Given the description of an element on the screen output the (x, y) to click on. 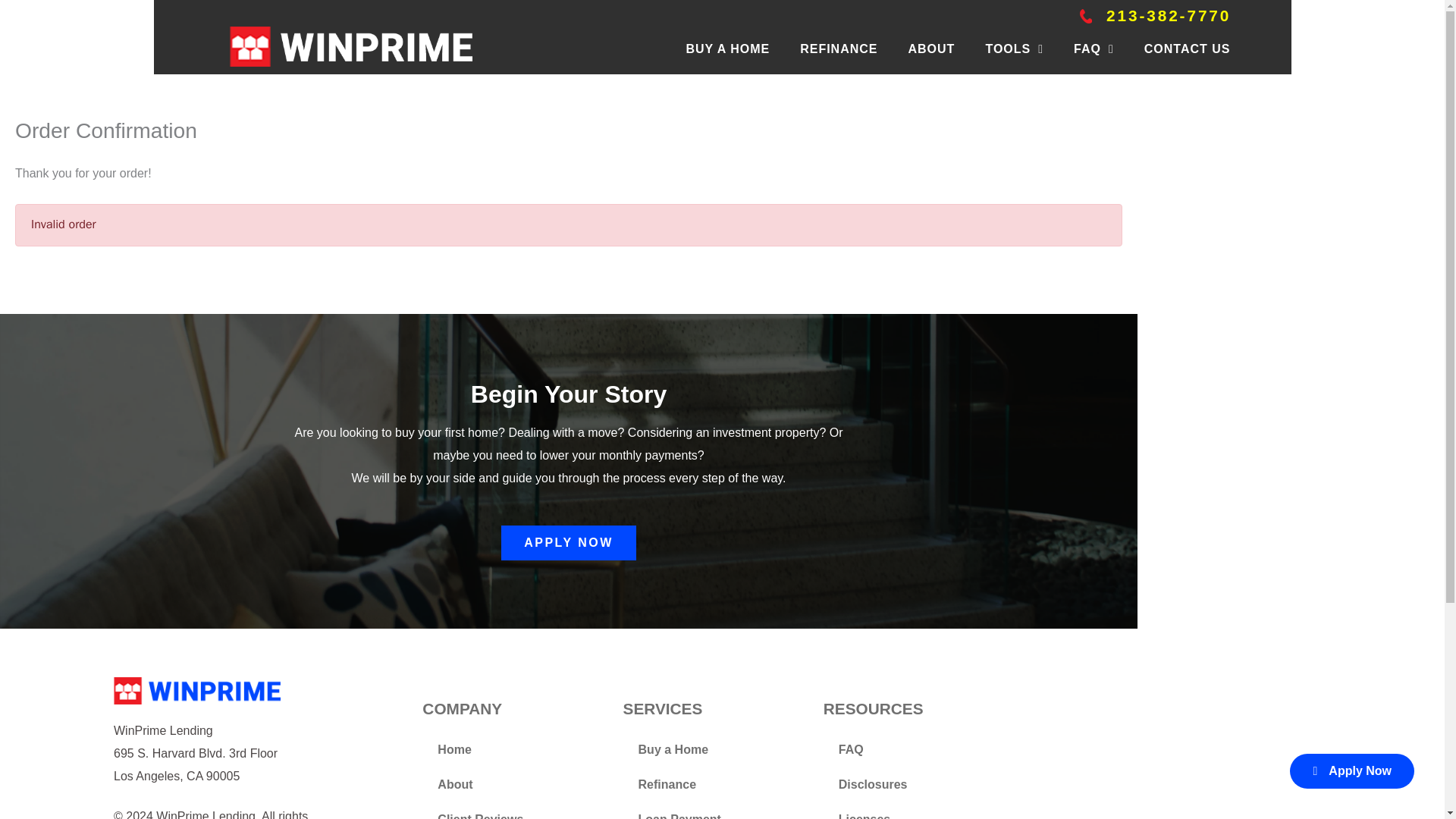
BUY A HOME (727, 48)
TOOLS (1014, 48)
ABOUT (931, 48)
REFINANCE (838, 48)
FAQ (1093, 48)
